Given the description of an element on the screen output the (x, y) to click on. 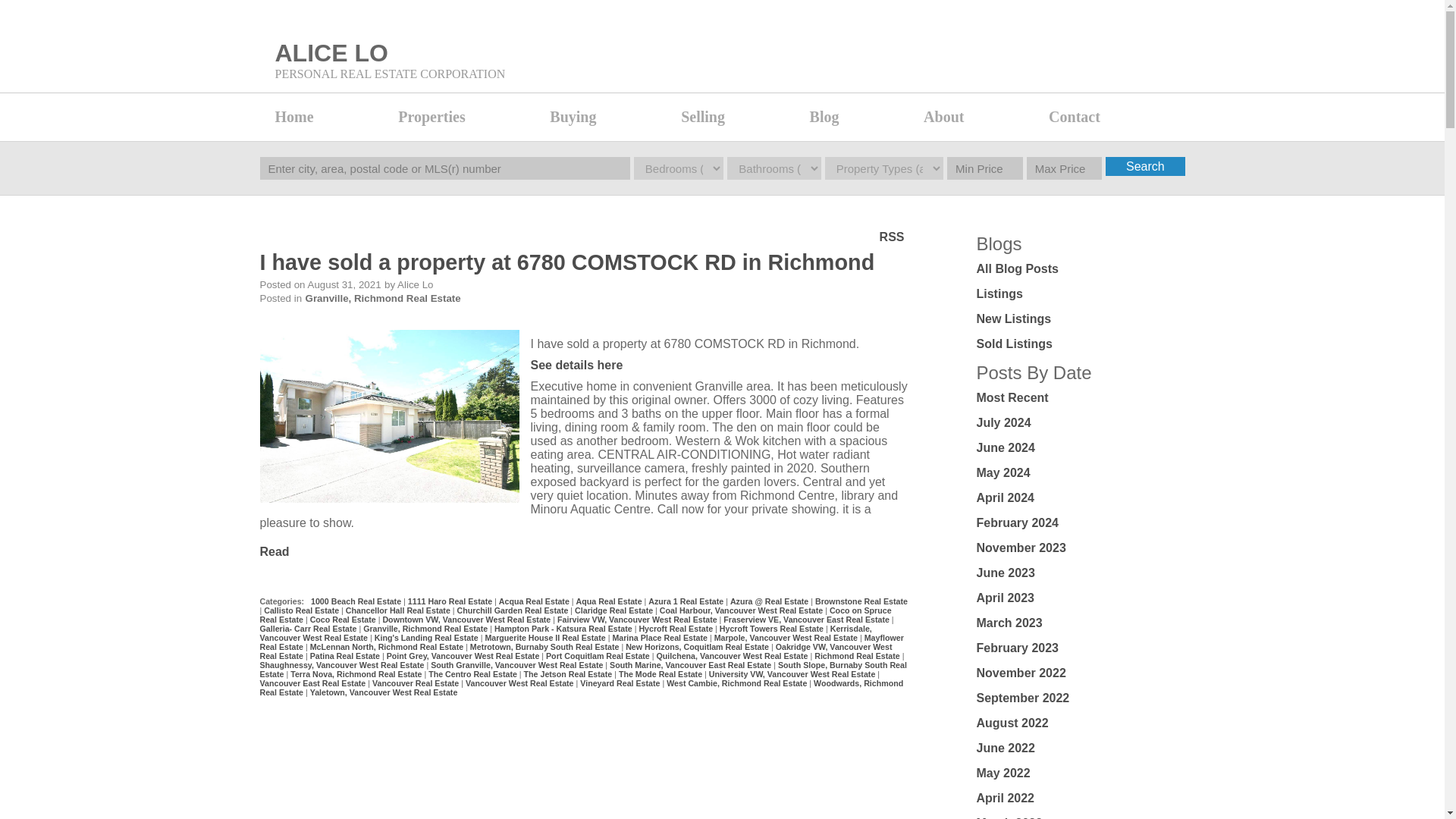
I have sold a property at 6780 COMSTOCK RD in Richmond (567, 263)
Search (1145, 166)
Buying (606, 116)
RSS (892, 236)
1111 Haro Real Estate (451, 601)
Contact (1108, 116)
Read full post (388, 418)
Acqua Real Estate (535, 601)
Azura 1 Real Estate (686, 601)
Properties (465, 116)
Home (328, 116)
Blog (859, 116)
Aqua Real Estate (610, 601)
See details here (577, 364)
Read (273, 551)
